Given the description of an element on the screen output the (x, y) to click on. 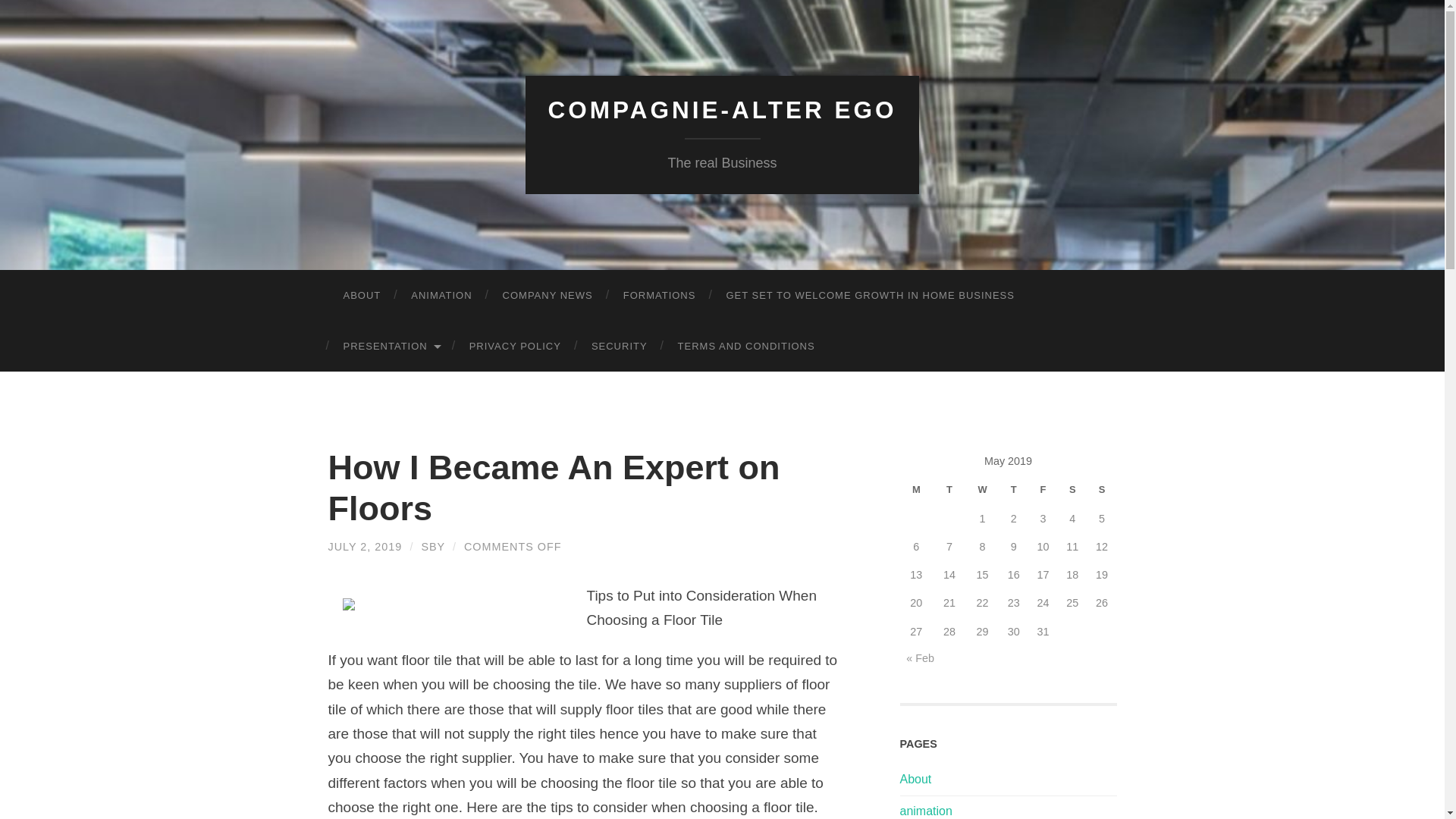
FORMATIONS (659, 295)
Friday (1042, 489)
COMPANY NEWS (547, 295)
animation (925, 810)
Posts by sby (432, 546)
SECURITY (619, 346)
COMPAGNIE-ALTER EGO (722, 109)
ANIMATION (441, 295)
Tuesday (949, 489)
ABOUT (361, 295)
Sunday (1101, 489)
PRIVACY POLICY (515, 346)
Thursday (1012, 489)
TERMS AND CONDITIONS (745, 346)
GET SET TO WELCOME GROWTH IN HOME BUSINESS (869, 295)
